Given the description of an element on the screen output the (x, y) to click on. 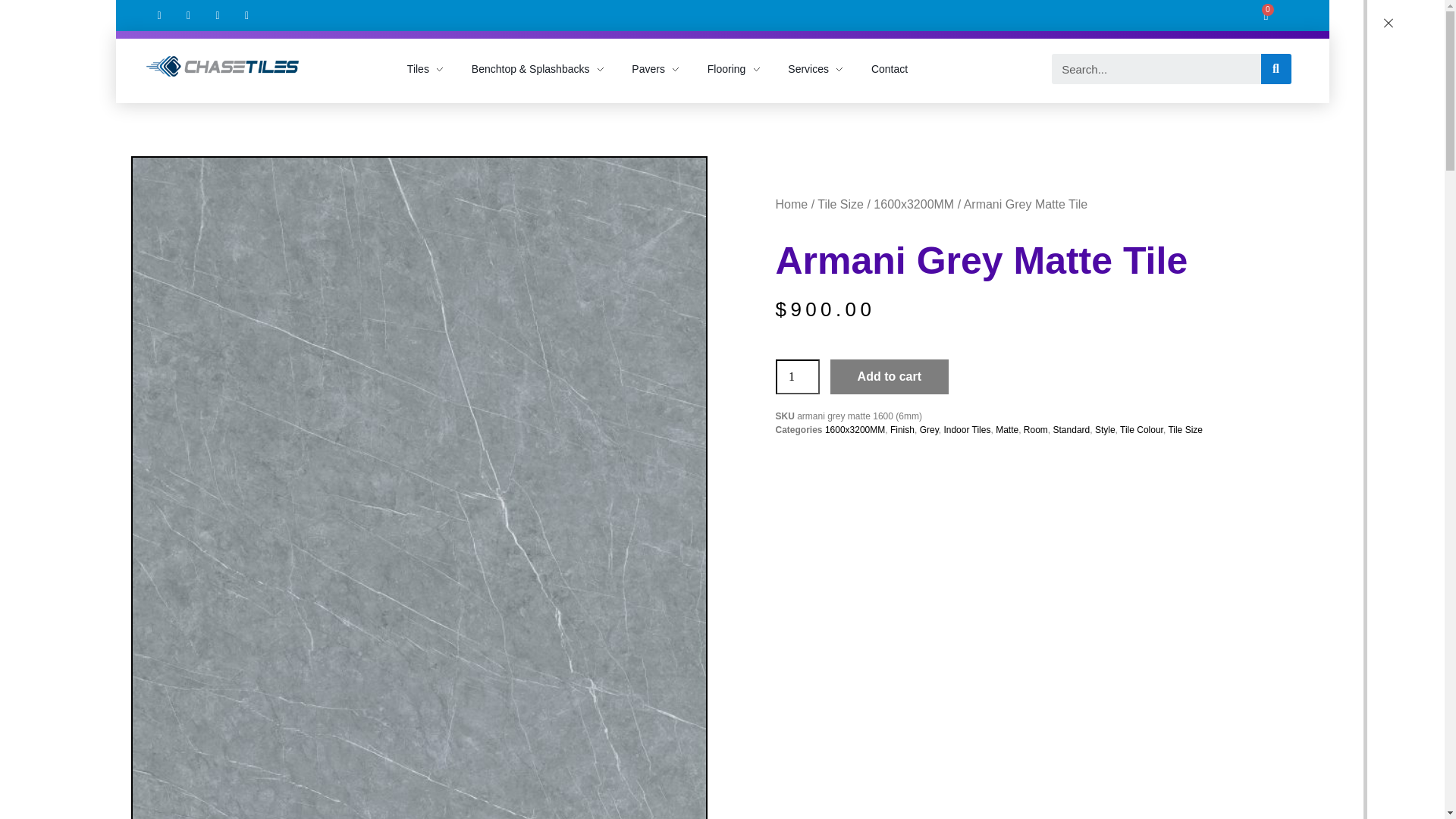
Chase Tiles (195, 85)
0 (1266, 11)
1 (796, 376)
Search (1155, 69)
Chase Tiles (195, 78)
Tiles (432, 63)
Search (1275, 69)
Chase Tiles (221, 66)
